Given the description of an element on the screen output the (x, y) to click on. 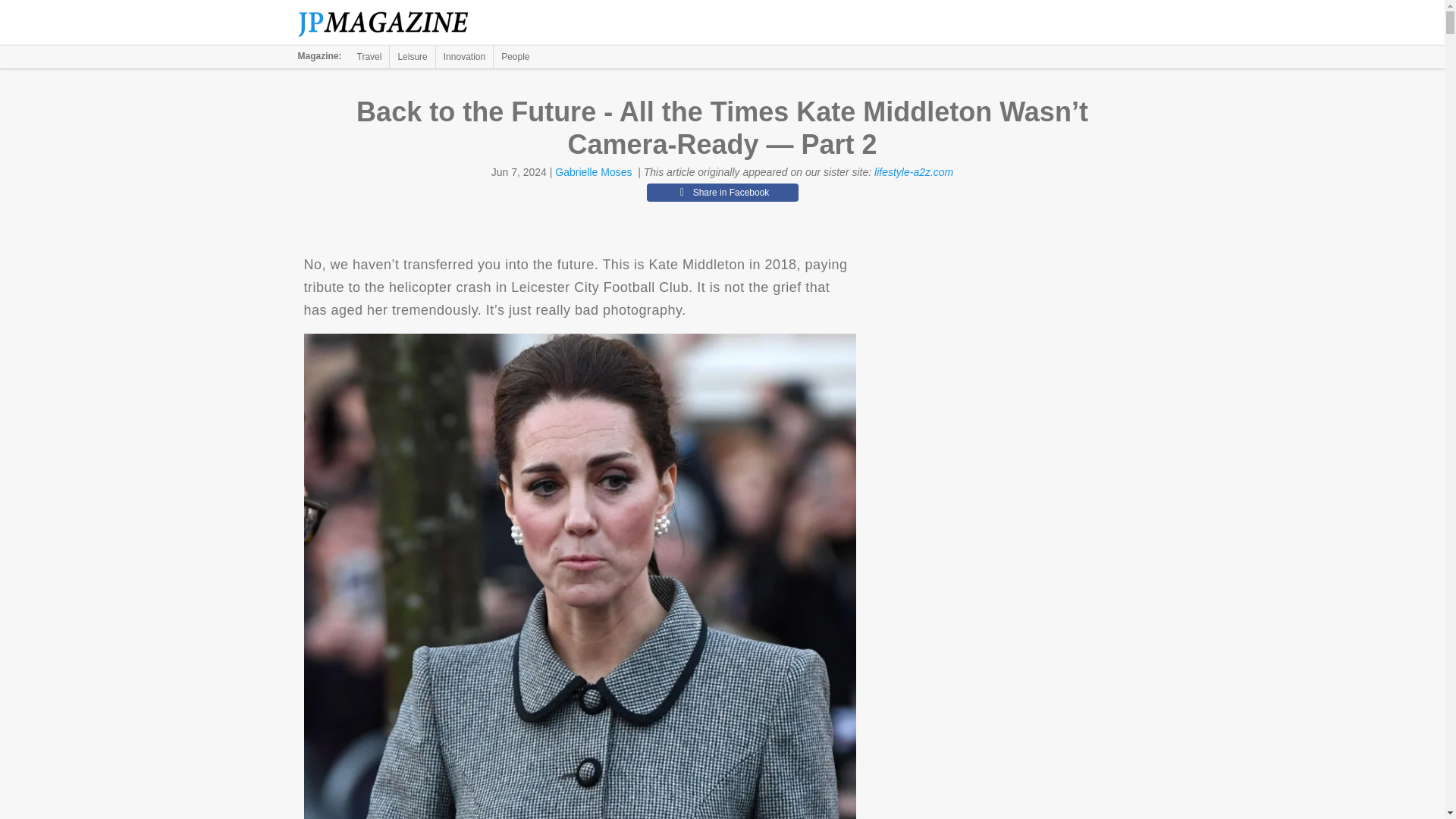
Share in Facebook (721, 192)
Gabrielle Moses (592, 172)
Innovation (464, 56)
The Jerusalem Post Magazine (391, 22)
Leisure (411, 56)
lifestyle-a2z.com (914, 172)
People (515, 56)
Travel (369, 56)
